Given the description of an element on the screen output the (x, y) to click on. 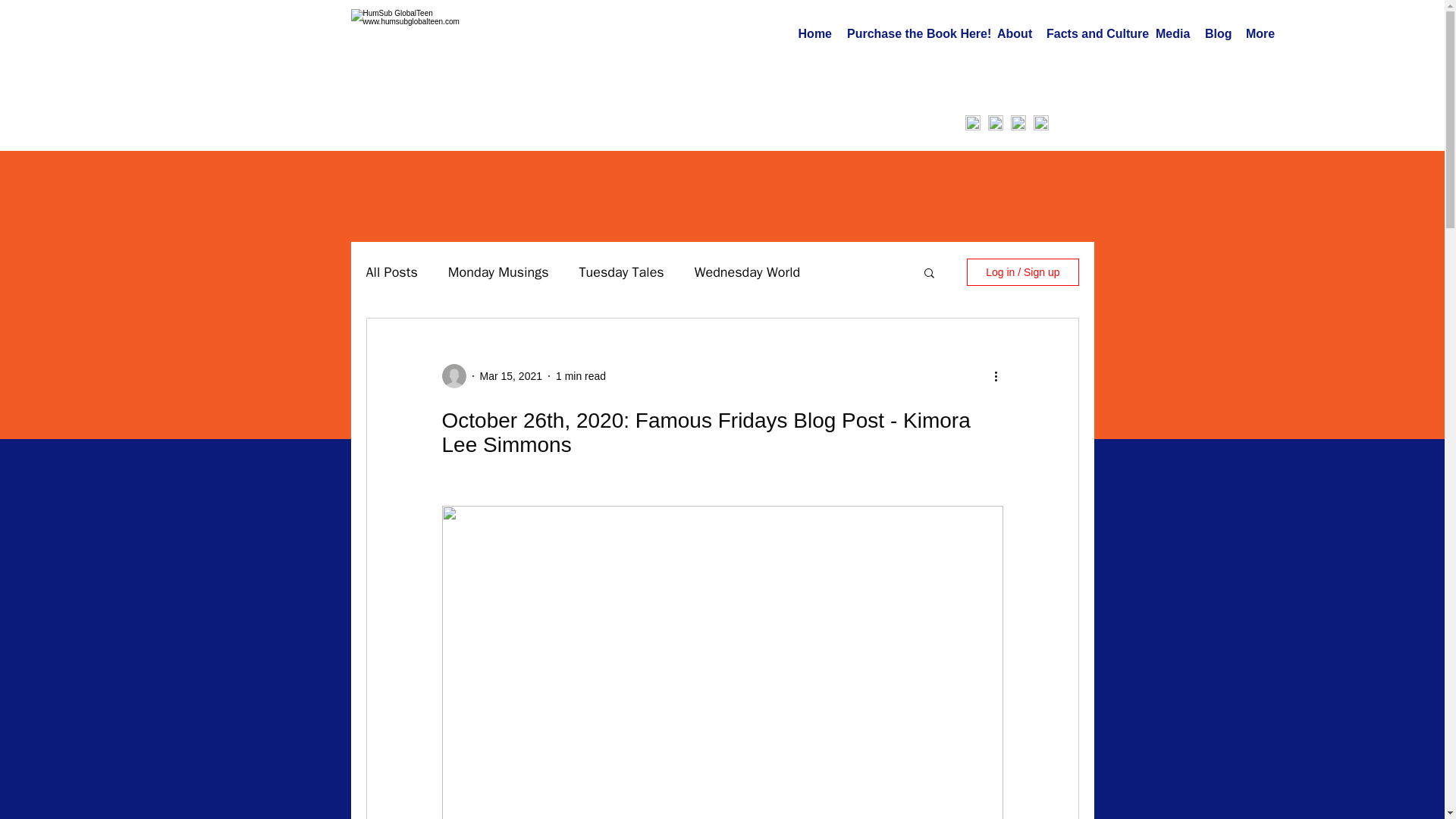
Blog (1217, 33)
1 min read (580, 376)
Tuesday Tales (621, 271)
About (1014, 33)
Wednesday World (746, 271)
Purchase the Book Here! (915, 33)
Monday Musings (498, 271)
Mar 15, 2021 (510, 376)
Home (815, 33)
All Posts (390, 271)
